Given the description of an element on the screen output the (x, y) to click on. 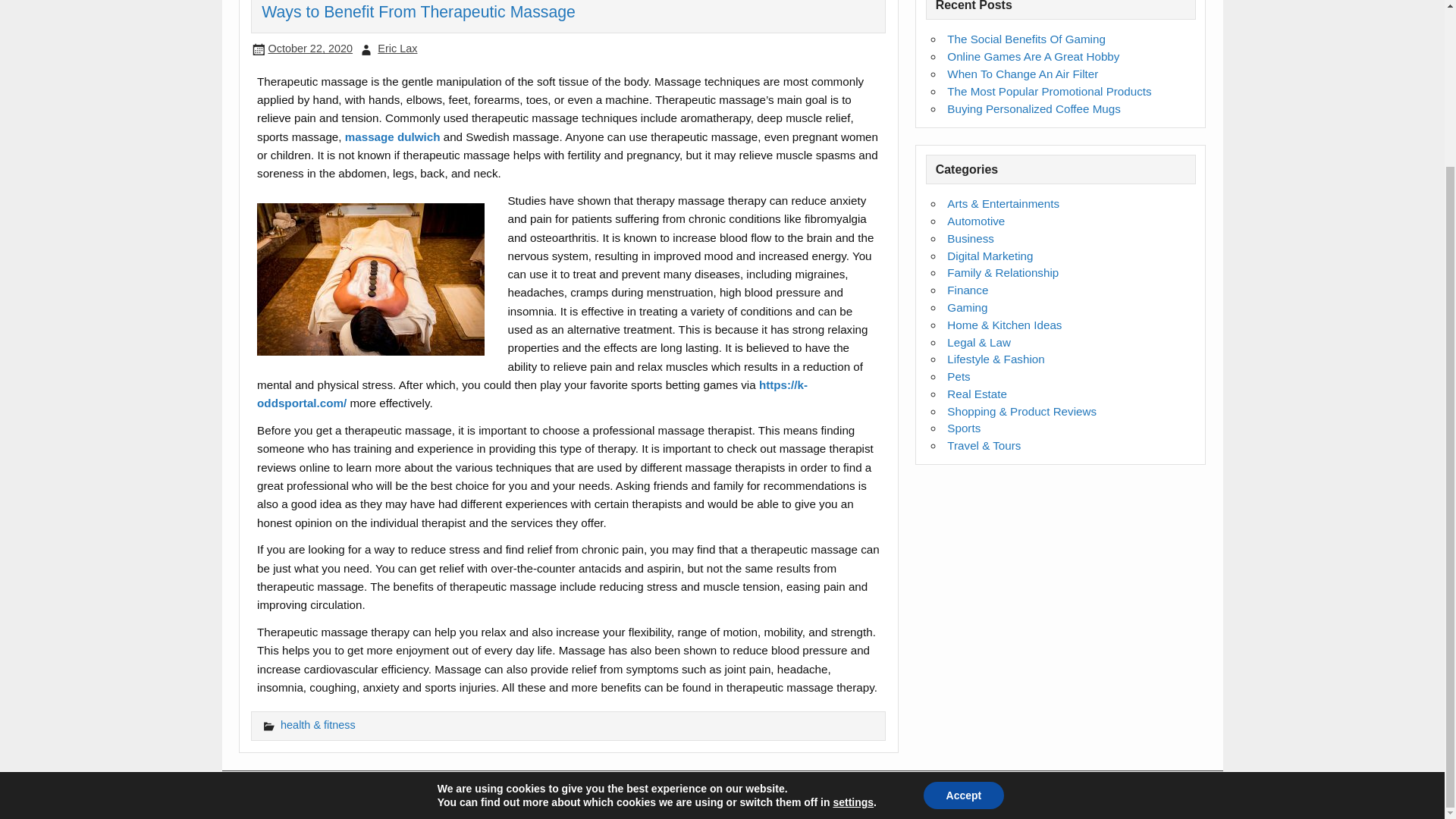
Gaming (967, 307)
Courage (1183, 794)
Automotive (975, 220)
Business (970, 237)
massage dulwich (393, 136)
Privacy Policy (330, 793)
The Social Benefits Of Gaming (1026, 38)
When To Change An Air Filter (1022, 73)
Digital Marketing (989, 255)
The Most Popular Promotional Products (1049, 91)
WordPress (1114, 794)
Eric Lax (396, 48)
Finance (967, 289)
WordPress (1114, 794)
Buying Personalized Coffee Mugs (1034, 108)
